Given the description of an element on the screen output the (x, y) to click on. 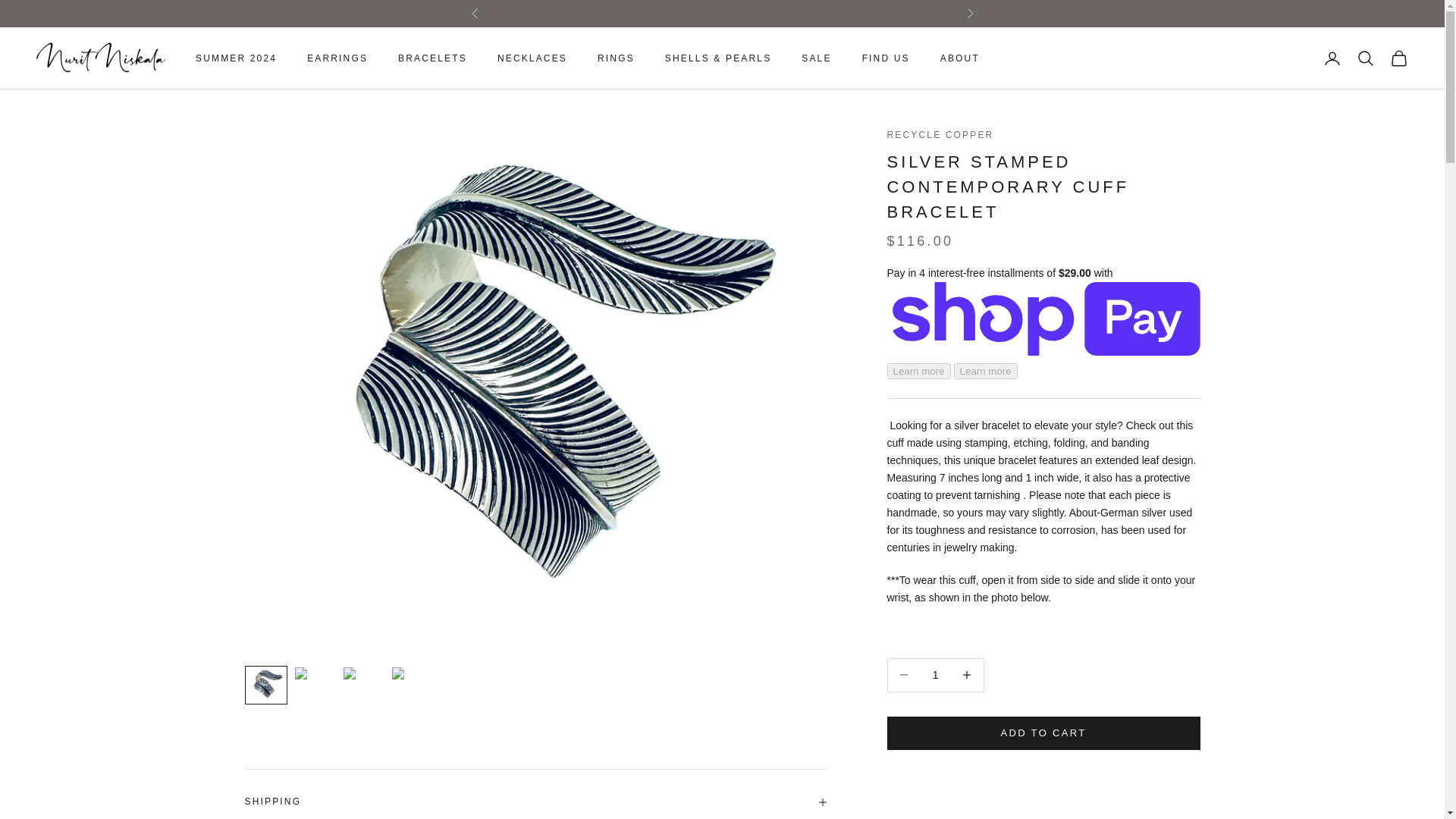
RINGS (615, 58)
Open account page (1331, 58)
Open search (1365, 58)
SUMMER 2024 (534, 794)
1 (235, 58)
Nurit Niskala Metal Jewelry Designer USA (935, 675)
FIND US (100, 58)
Open cart (885, 58)
SALE (1398, 58)
